Given the description of an element on the screen output the (x, y) to click on. 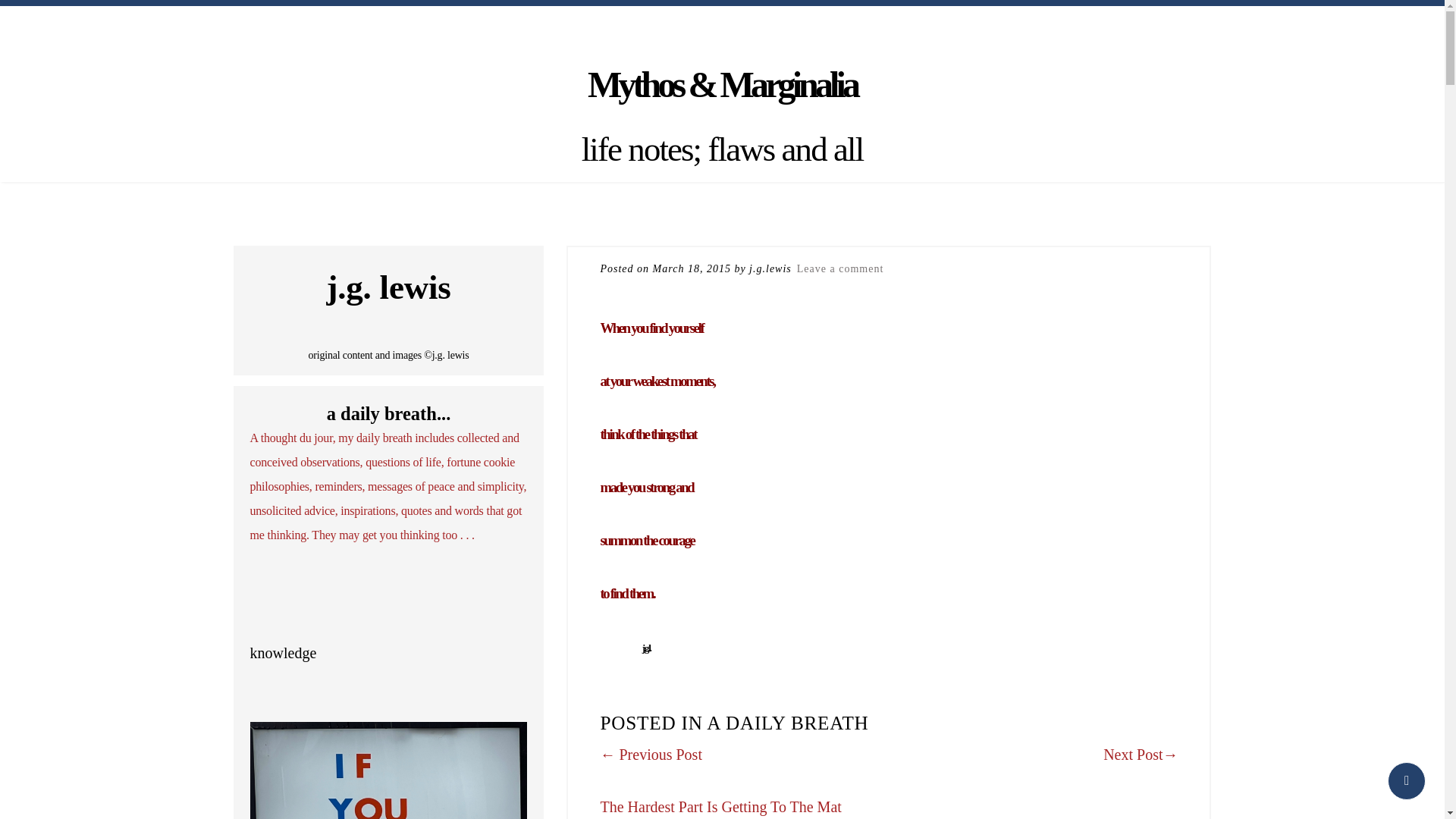
a daily breath... (388, 413)
knowledge (283, 652)
